Given the description of an element on the screen output the (x, y) to click on. 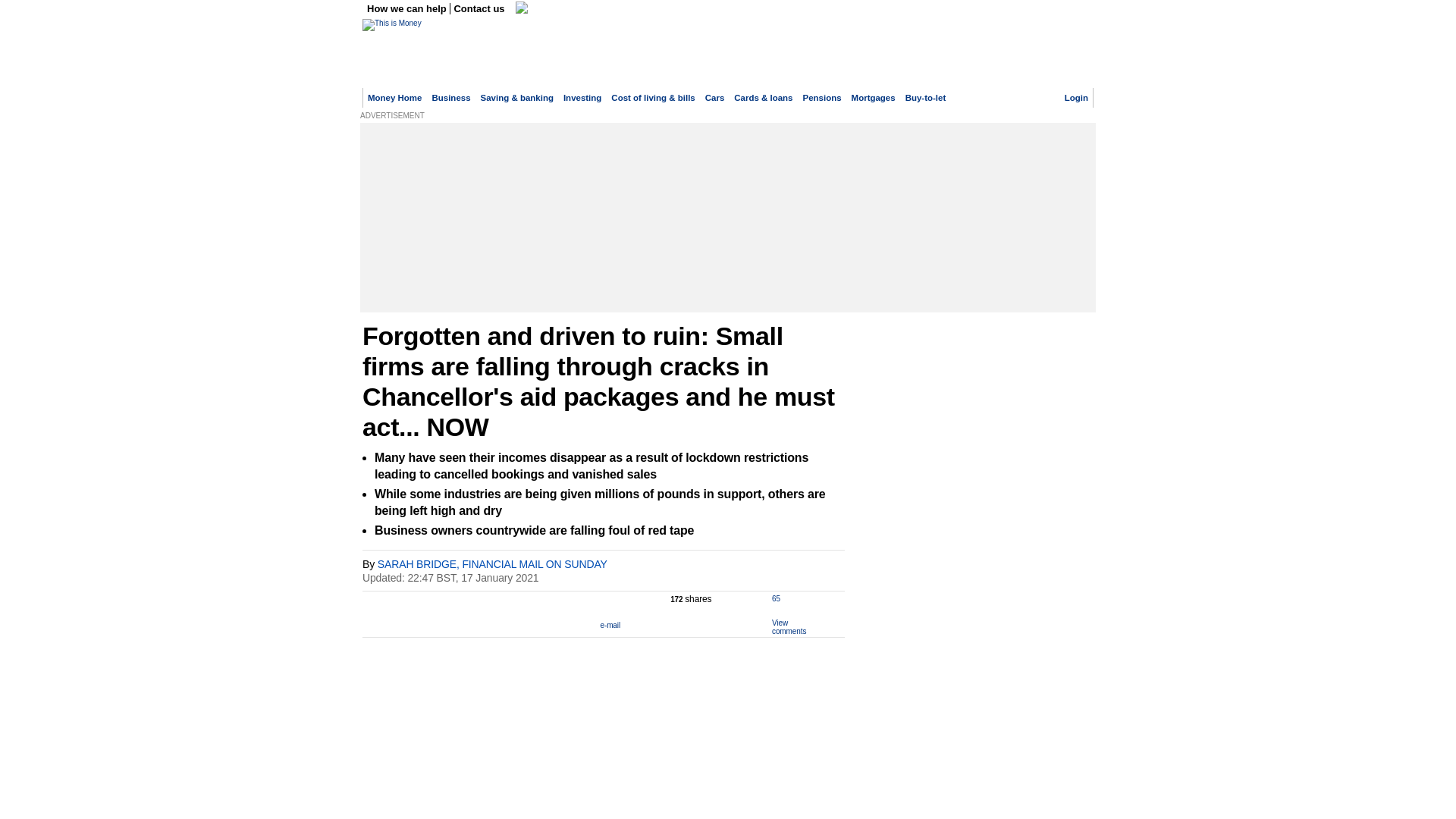
Money Home (395, 97)
Mortgages (873, 97)
Pensions (822, 97)
How we can help (407, 8)
Buy-to-let (925, 97)
Investing (582, 97)
Contact us (479, 8)
Cars (714, 97)
Business (450, 97)
Login (1075, 97)
